Given the description of an element on the screen output the (x, y) to click on. 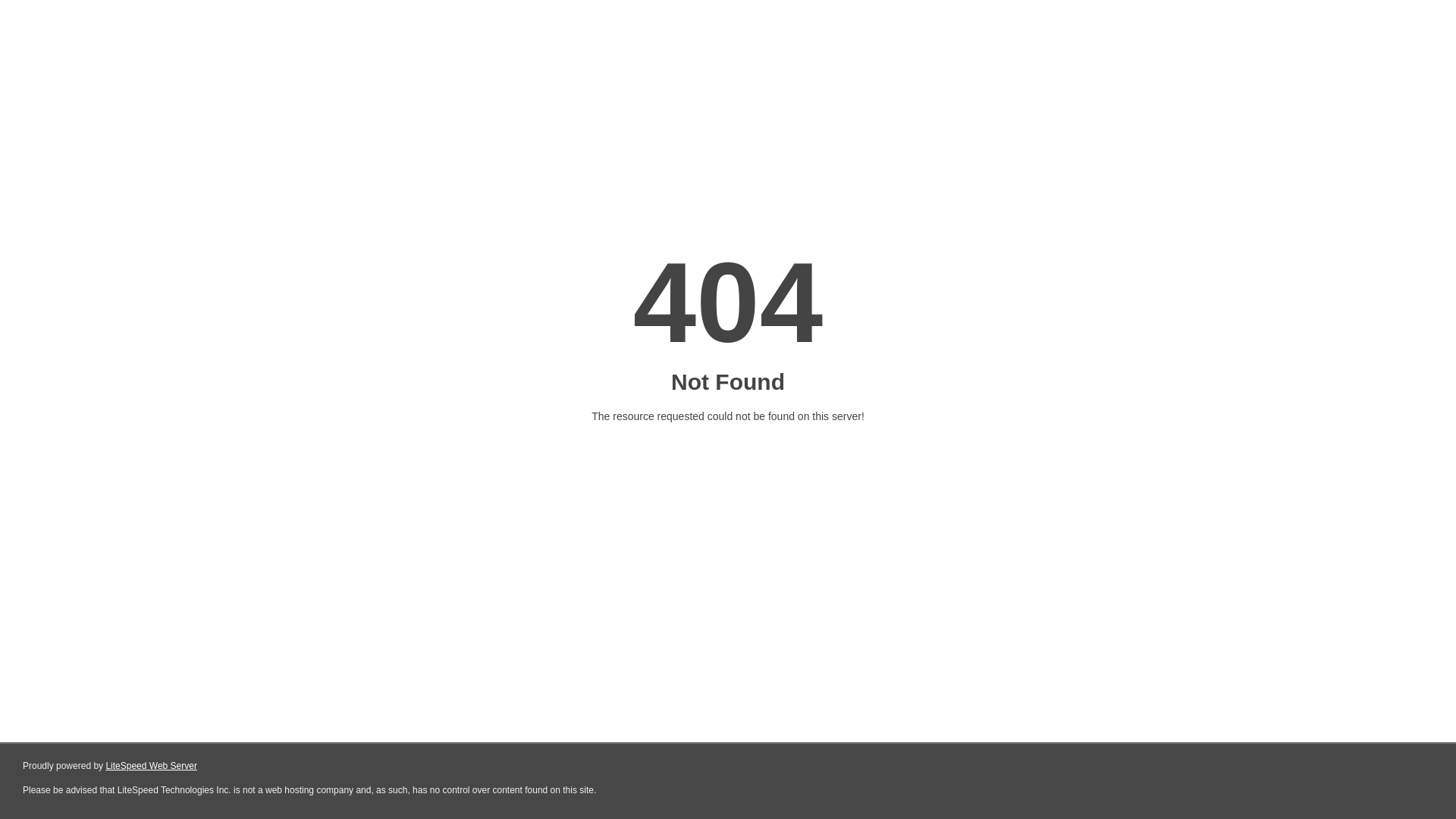
LiteSpeed Web Server Element type: text (151, 765)
